Given the description of an element on the screen output the (x, y) to click on. 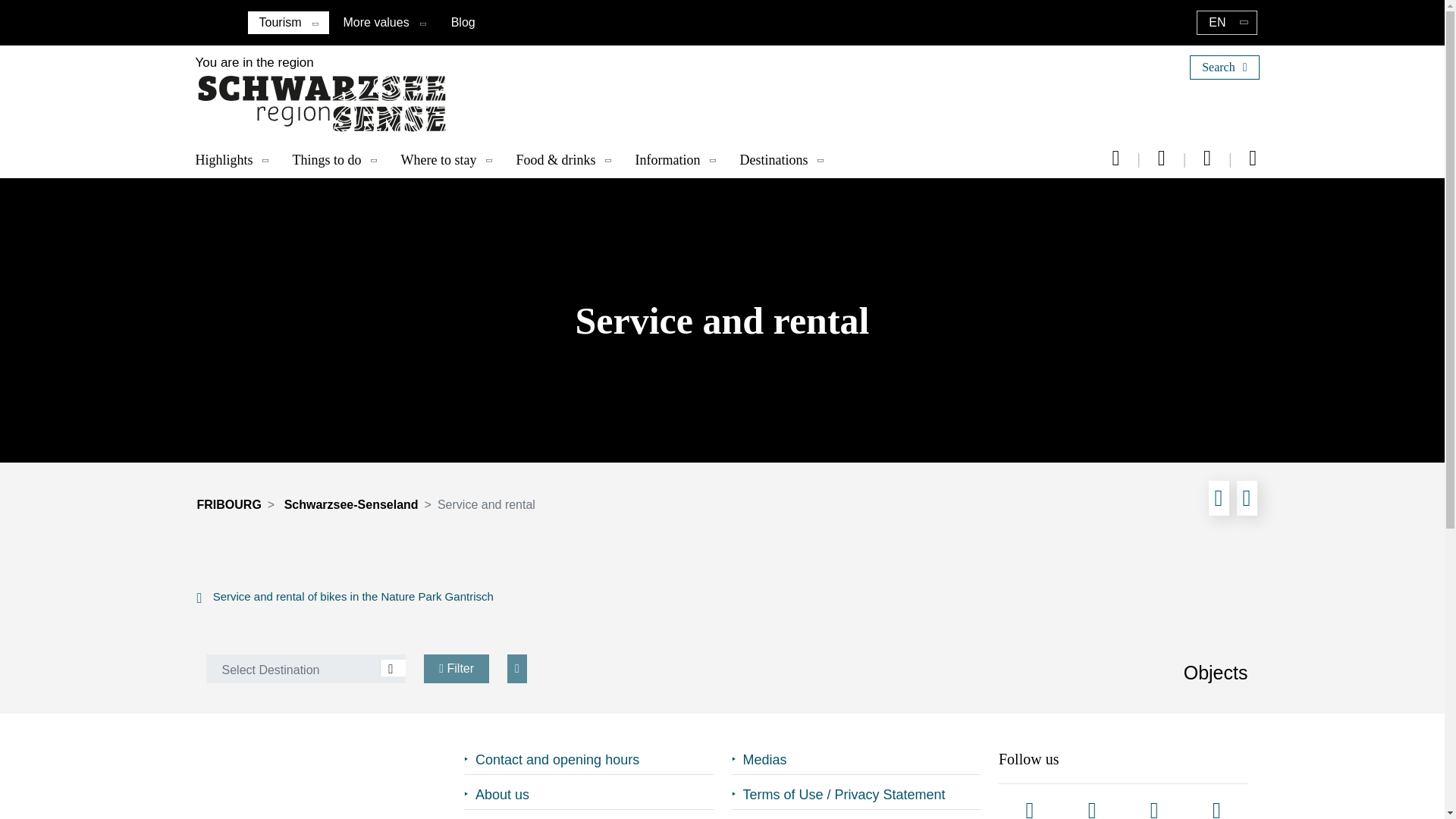
Blog (463, 21)
Tourism (280, 22)
Highlights (236, 160)
Things to do (339, 160)
More values (376, 21)
